Given the description of an element on the screen output the (x, y) to click on. 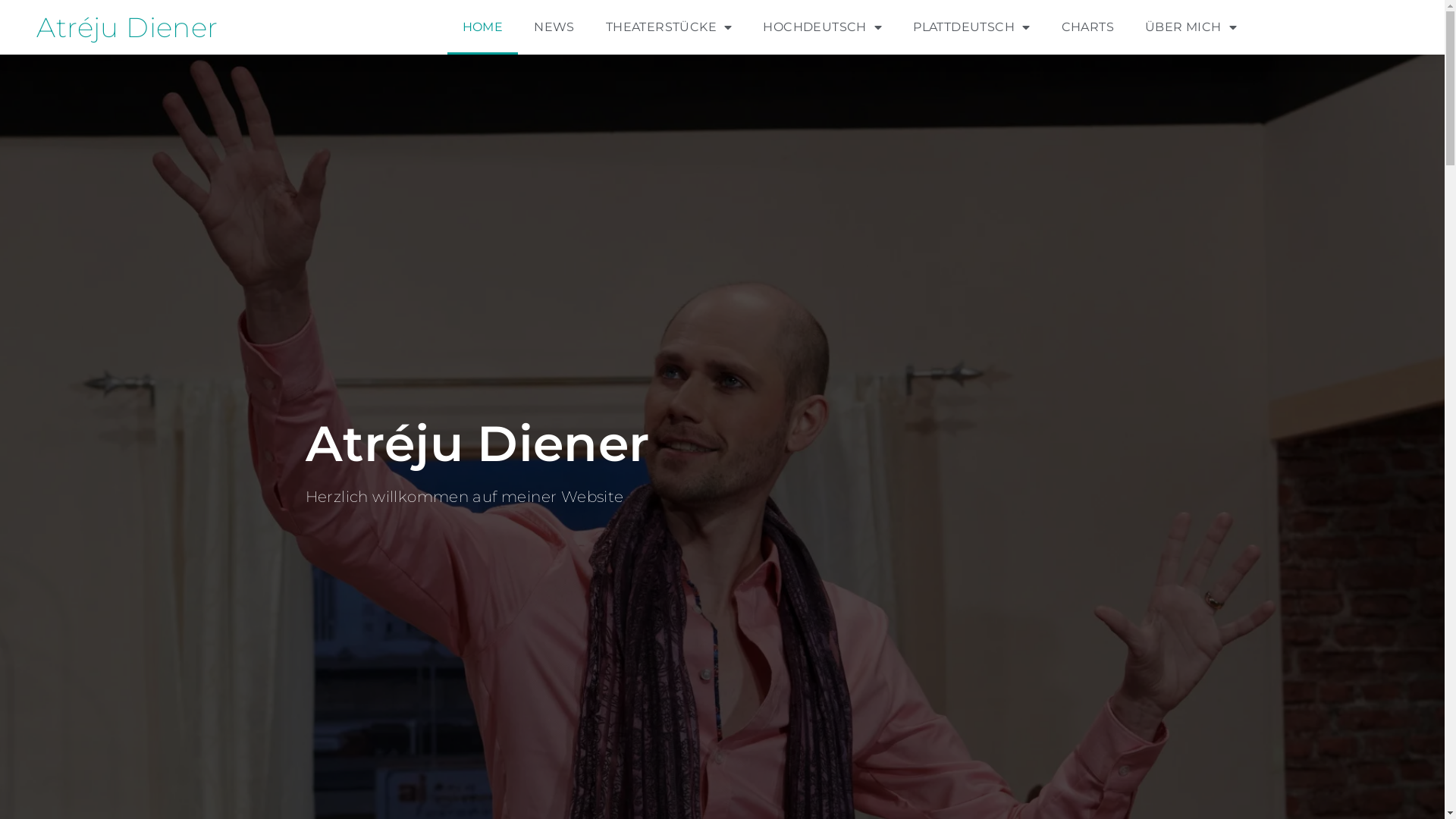
PLATTDEUTSCH Element type: text (970, 27)
CHARTS Element type: text (1087, 27)
HOME Element type: text (482, 27)
HOCHDEUTSCH Element type: text (822, 27)
NEWS Element type: text (553, 27)
